Given the description of an element on the screen output the (x, y) to click on. 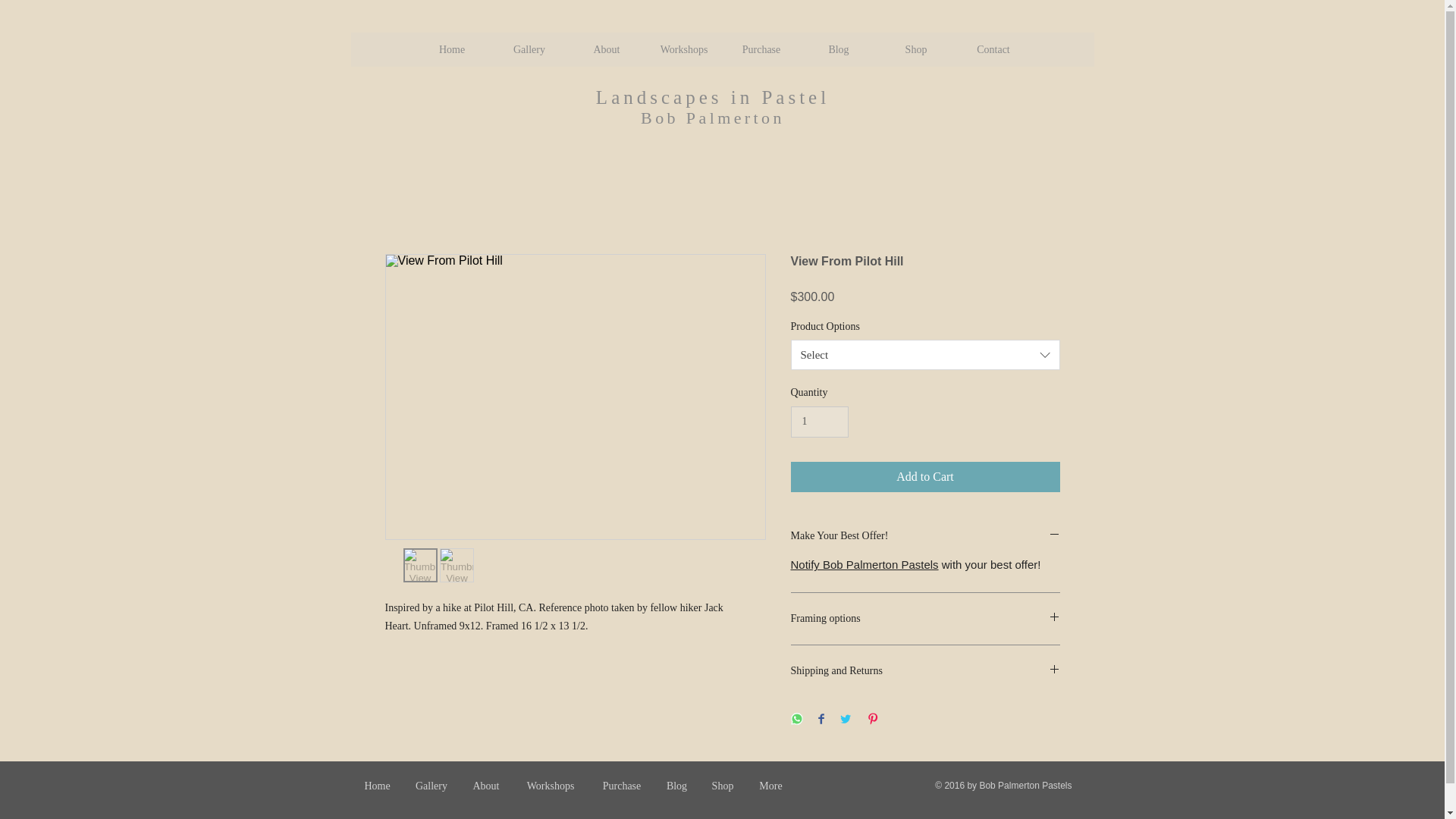
Gallery (528, 49)
Workshops (683, 49)
Shop (914, 49)
Blog (676, 786)
Add to Cart (924, 476)
Workshops (550, 786)
Framing options (924, 618)
Gallery (431, 786)
Make Your Best Offer! (924, 536)
Contact (991, 49)
